Given the description of an element on the screen output the (x, y) to click on. 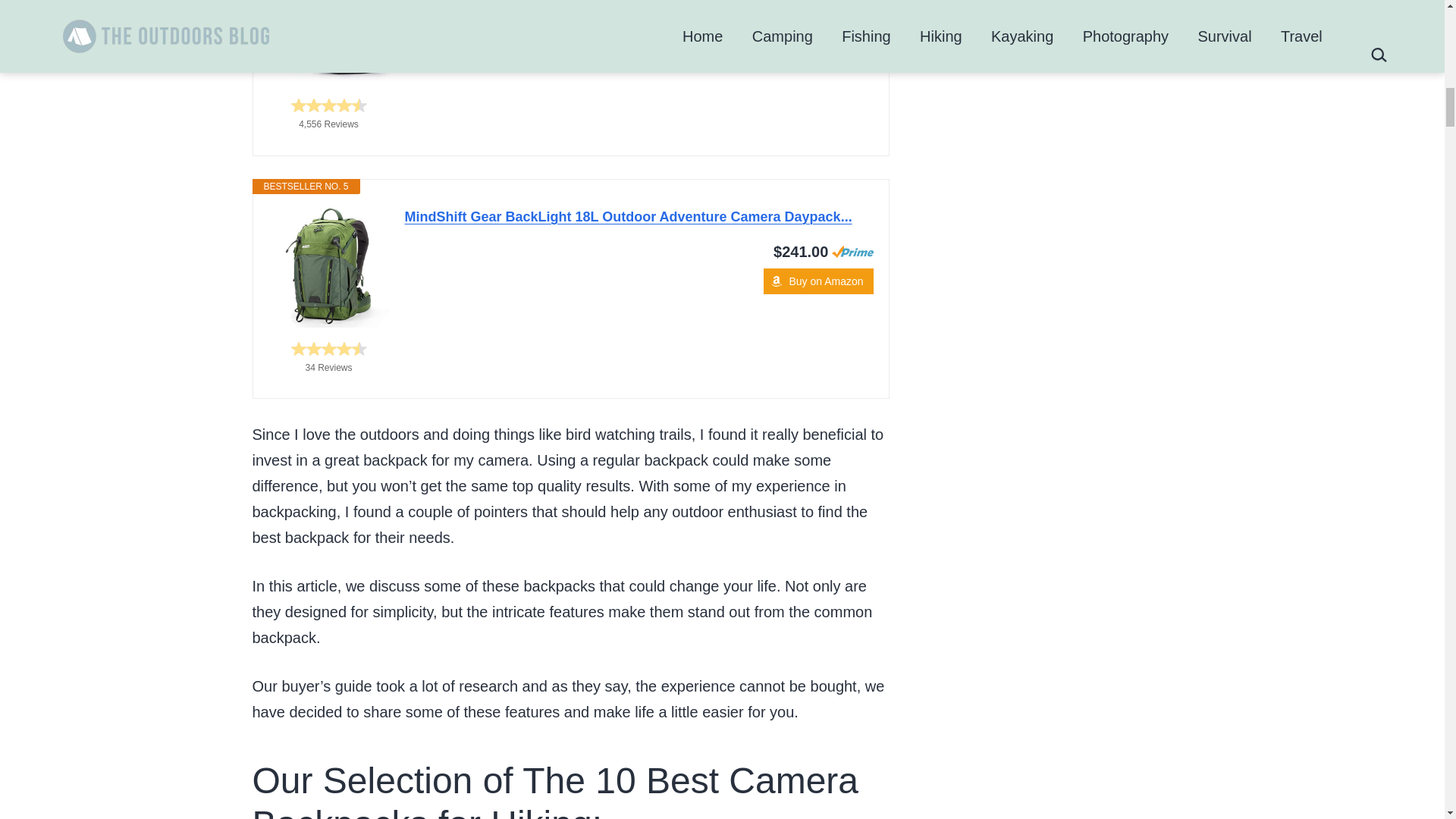
Reviews on Amazon (328, 105)
Buy on Amazon (817, 44)
BAGSMART Camera Backpack, DSLR SLR Waterproof Camera Bag... (328, 42)
Buy on Amazon (817, 281)
